Given the description of an element on the screen output the (x, y) to click on. 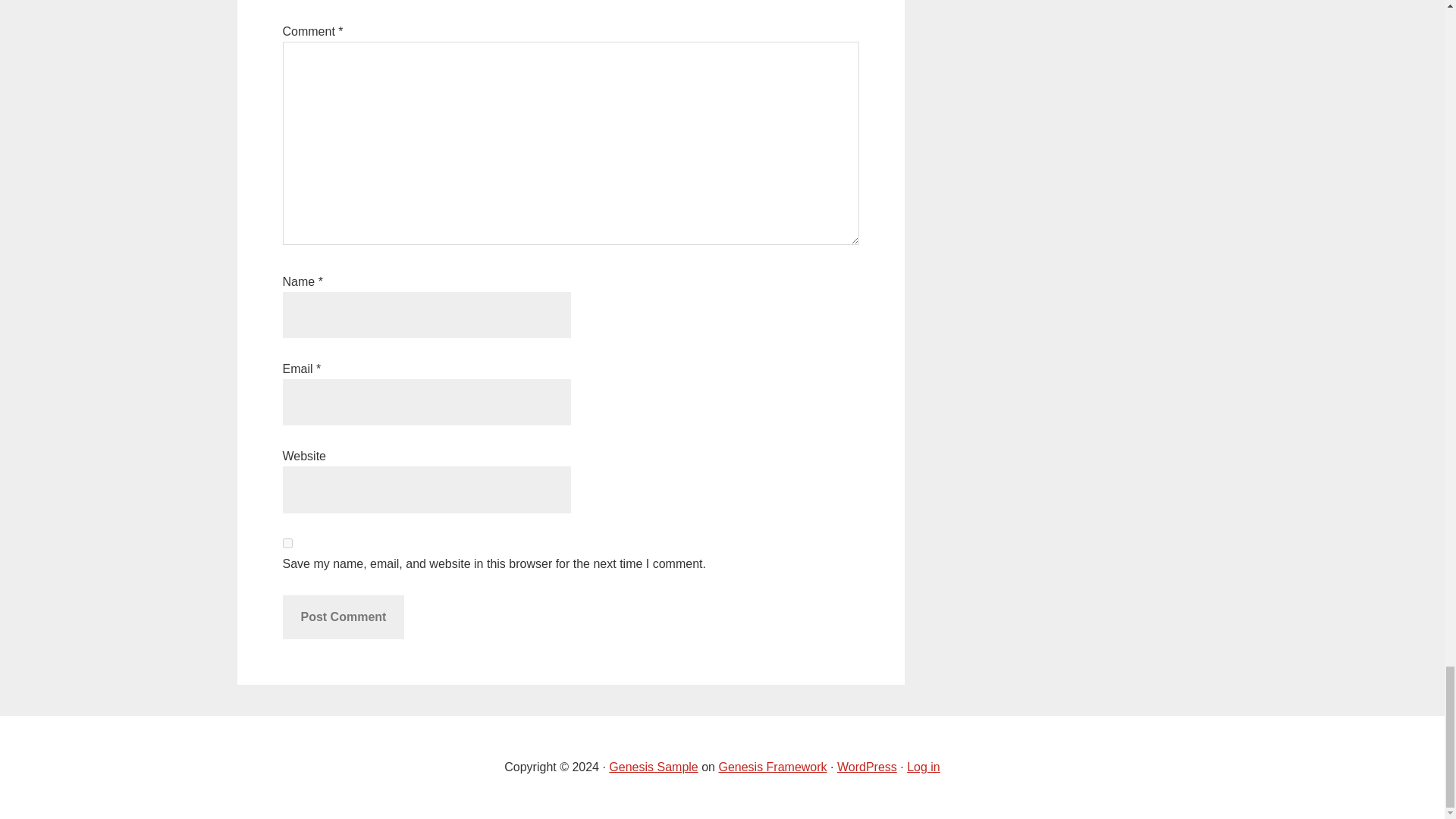
yes (287, 542)
Post Comment (343, 617)
